Given the description of an element on the screen output the (x, y) to click on. 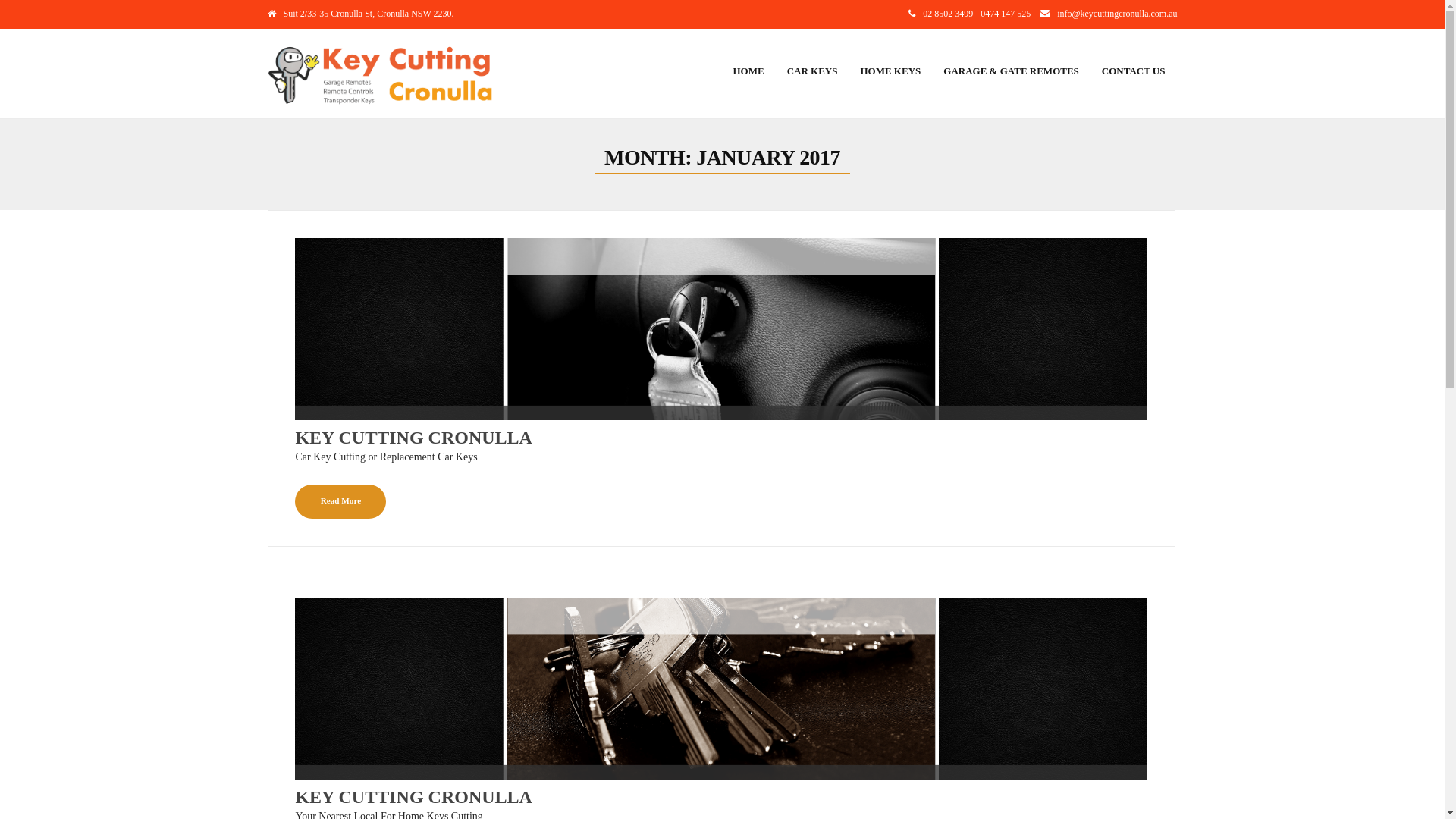
KEY CUTTING CRONULLA Element type: text (720, 796)
CONTACT US Element type: text (1133, 71)
info@keycuttingcronulla.com.au Element type: text (1116, 13)
HOME Element type: text (748, 71)
CAR KEYS Element type: text (812, 71)
GARAGE & GATE REMOTES Element type: text (1010, 71)
HOME KEYS Element type: text (889, 71)
KEY CUTTING CRONULLA Element type: text (720, 437)
Read More Element type: text (339, 501)
